Given the description of an element on the screen output the (x, y) to click on. 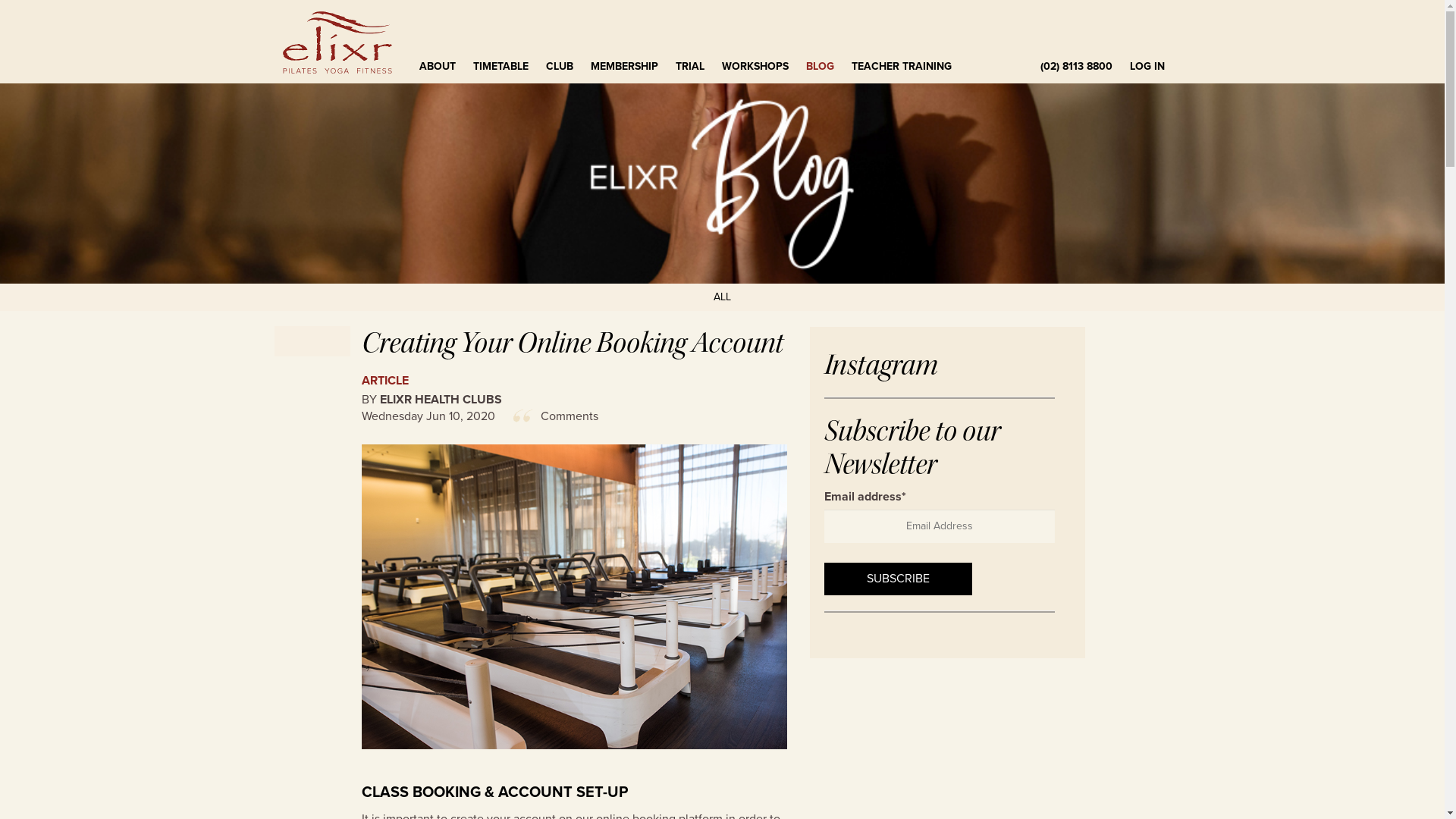
(02) 8113 8800 Element type: text (1075, 66)
LOG IN Element type: text (1148, 66)
ABOUT Element type: text (437, 66)
MEMBERSHIP Element type: text (624, 66)
TIMETABLE Element type: text (501, 66)
TRIAL Element type: text (690, 66)
BLOG Element type: text (820, 66)
ALL Element type: text (722, 296)
Subscribe Element type: text (897, 578)
CLUB Element type: text (560, 66)
WORKSHOPS Element type: text (756, 66)
TEACHER TRAINING Element type: text (901, 66)
